Given the description of an element on the screen output the (x, y) to click on. 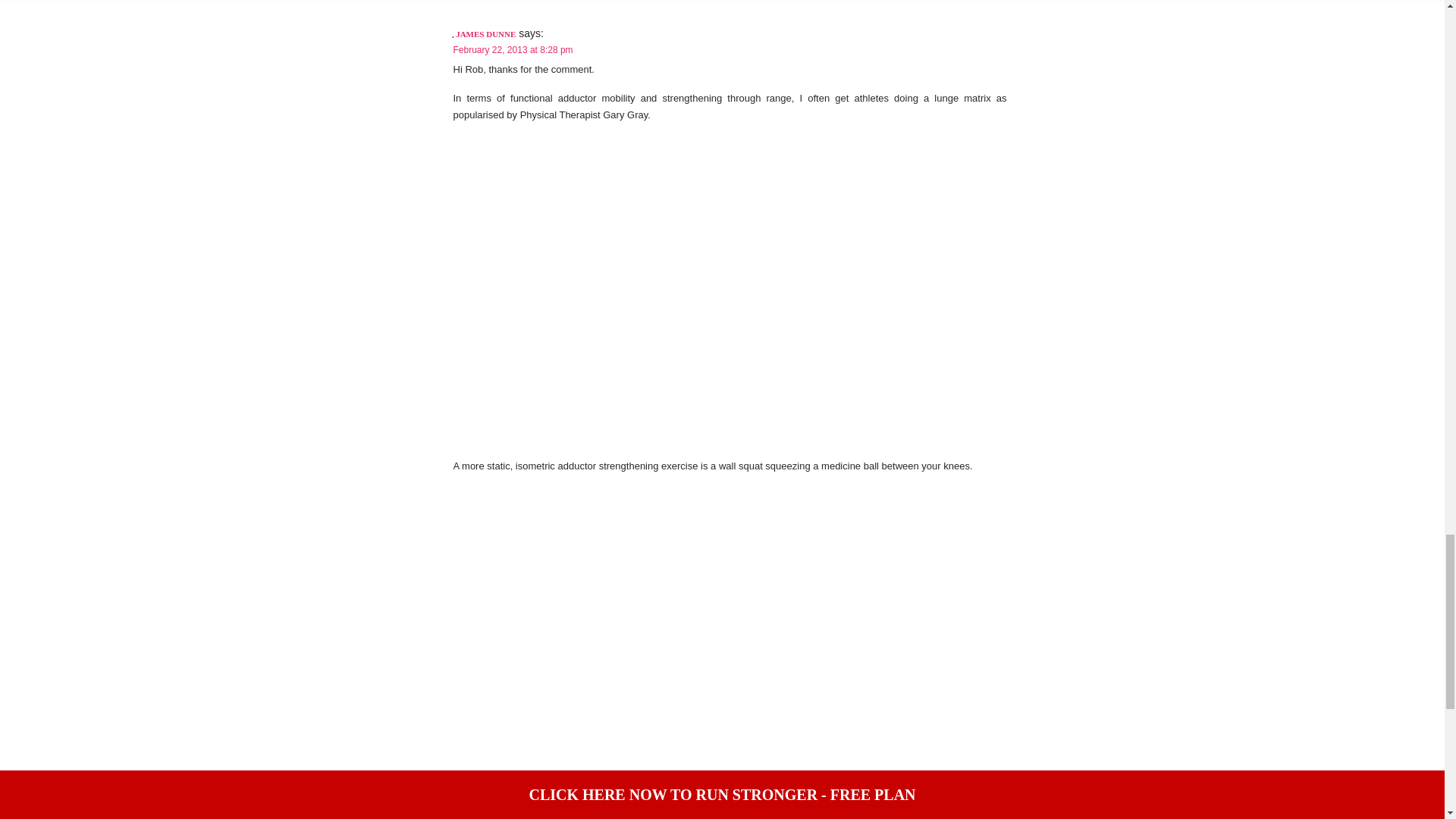
JAMES DUNNE (485, 33)
February 22, 2013 at 8:28 pm (512, 50)
